Given the description of an element on the screen output the (x, y) to click on. 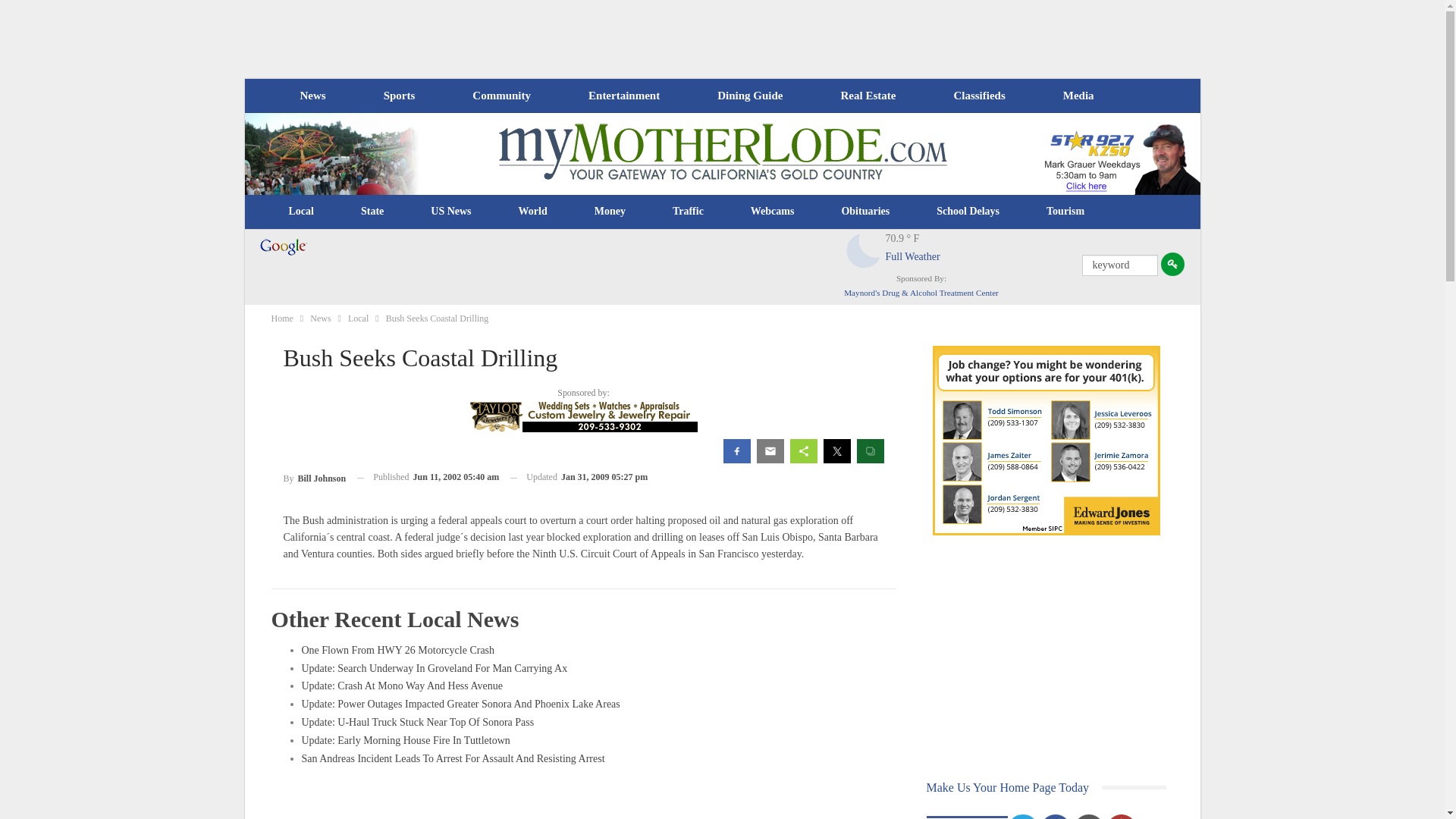
keyword (1119, 265)
Submit (1172, 264)
Entertainment (624, 95)
Dining Guide (749, 95)
Money (609, 211)
Clear (864, 250)
Webcams (772, 211)
State (372, 211)
News (312, 95)
Community (501, 95)
Classifieds (979, 95)
US News (451, 211)
Sports (399, 95)
